Given the description of an element on the screen output the (x, y) to click on. 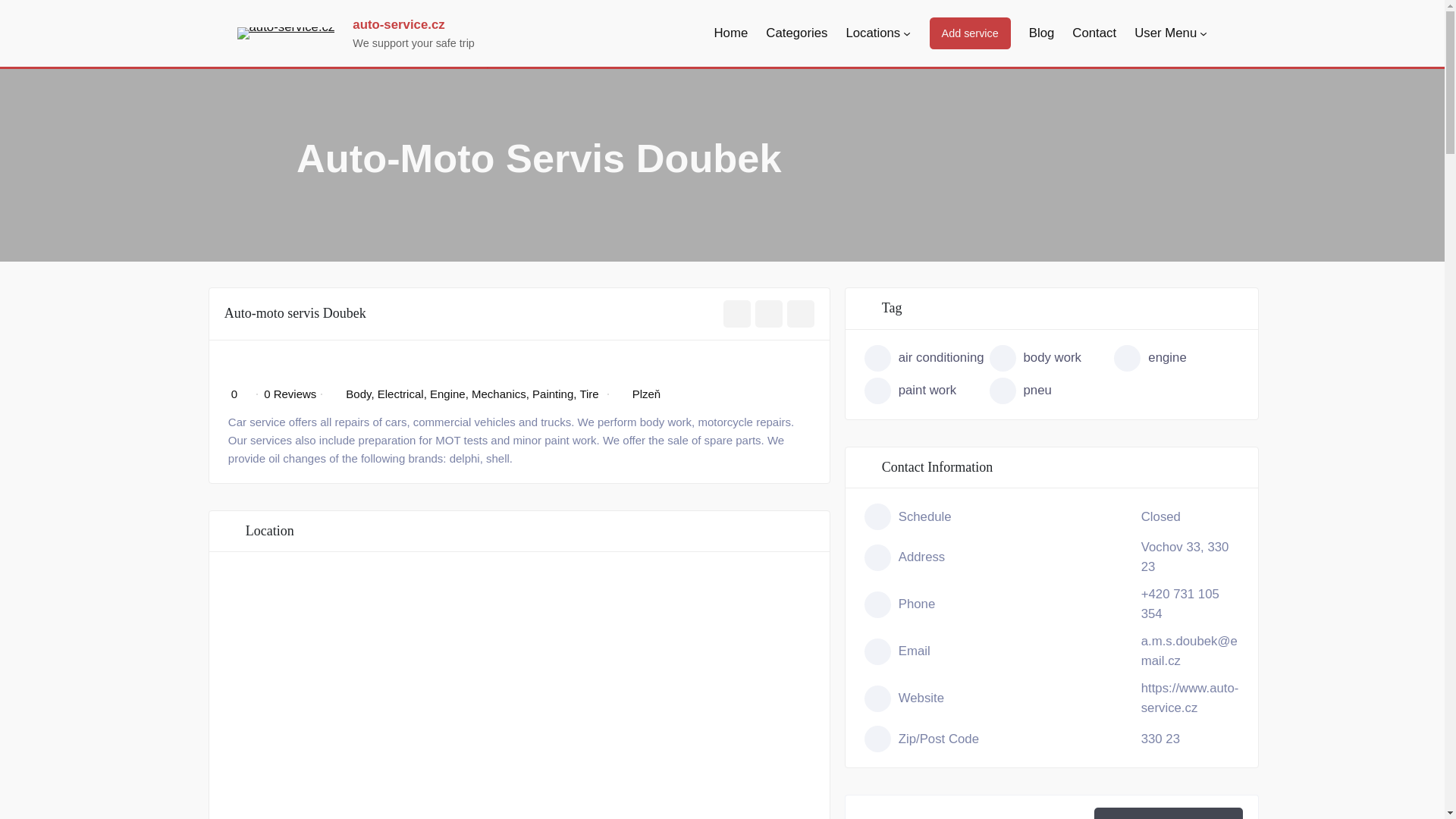
body work (1052, 357)
paint work (927, 390)
Home (731, 33)
Engine (447, 393)
Body (358, 393)
Tire (588, 393)
Mechanics (498, 393)
air conditioning (927, 357)
engine (1176, 357)
Electrical (400, 393)
